Given the description of an element on the screen output the (x, y) to click on. 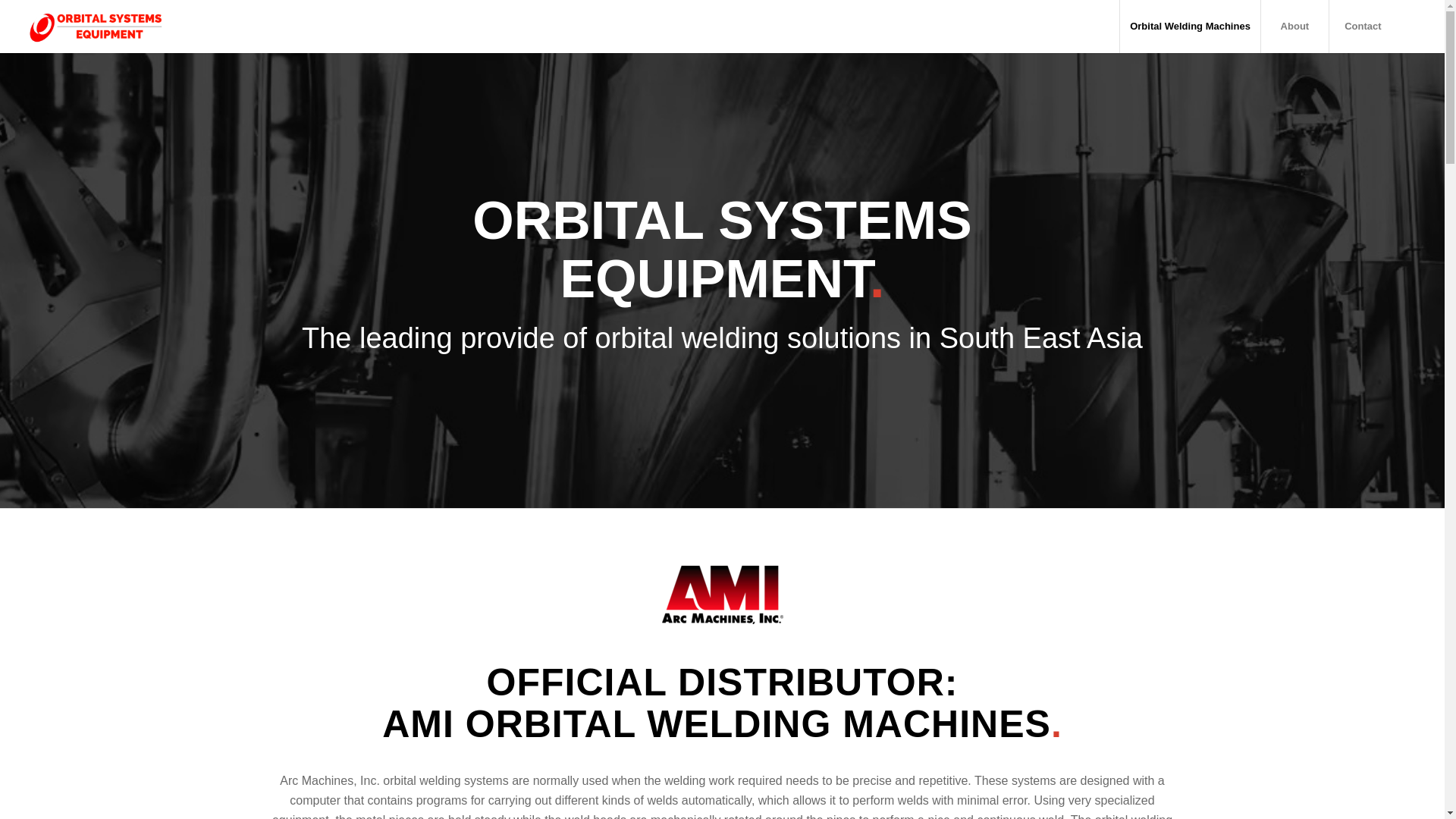
Orbital Welding Machines (1189, 26)
Contact (1361, 26)
About (1293, 26)
